Given the description of an element on the screen output the (x, y) to click on. 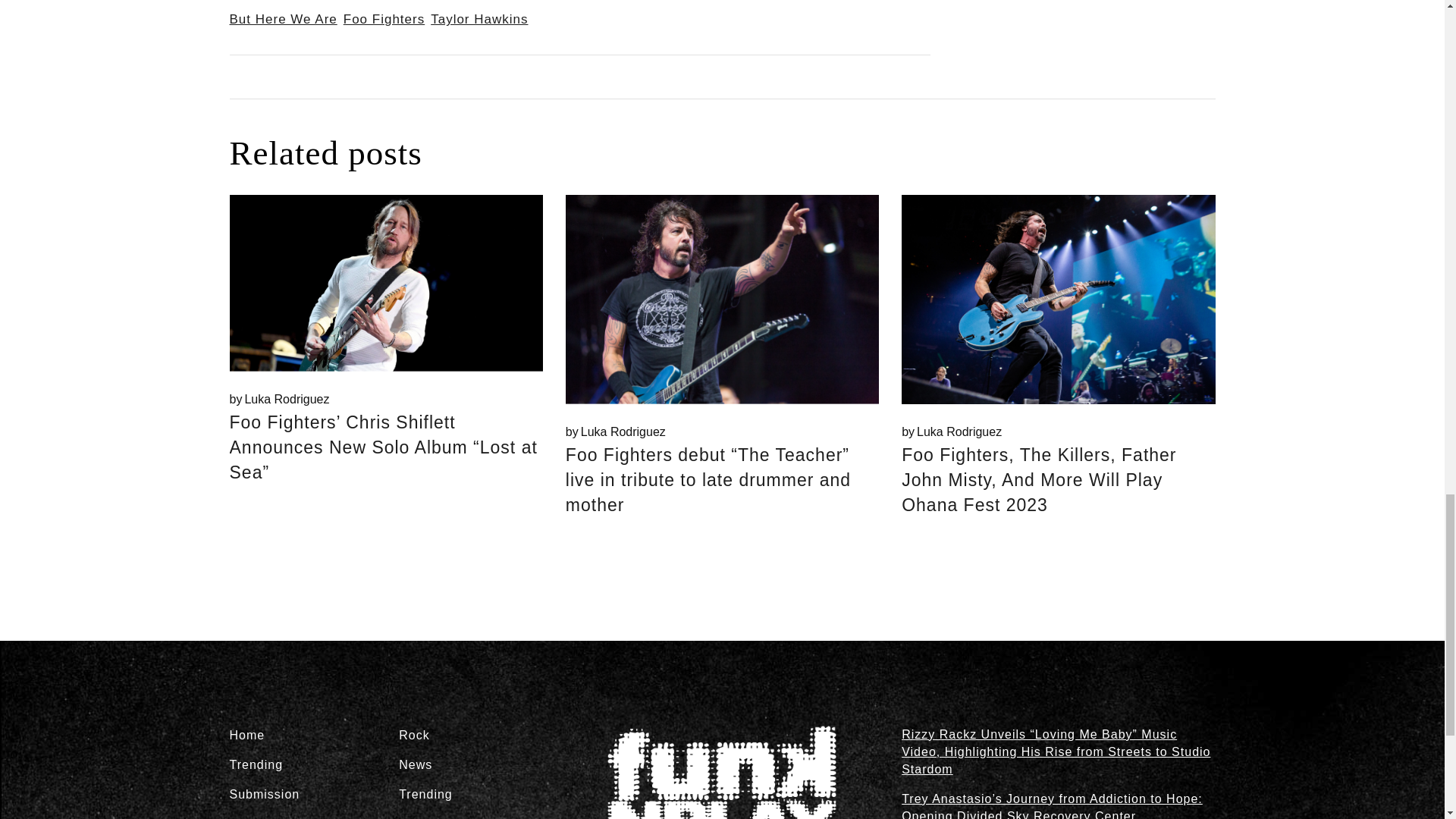
But Here We Are (282, 19)
Taylor Hawkins (278, 399)
Foo Fighters (478, 19)
